Given the description of an element on the screen output the (x, y) to click on. 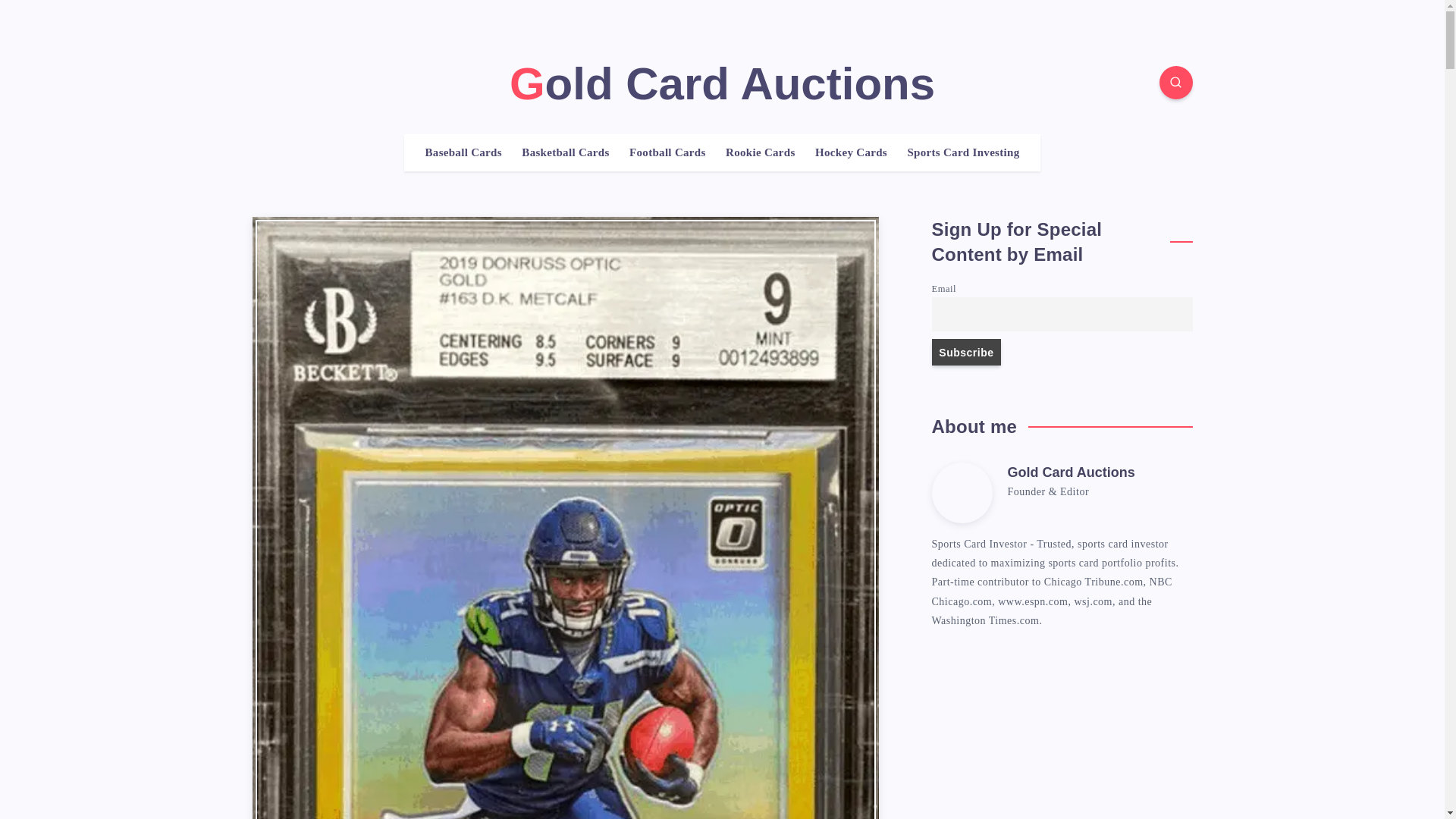
Baseball Cards (463, 152)
Gold Card Auctions (721, 83)
Rookie Cards (759, 152)
Sports Card Investing (963, 152)
Hockey Cards (850, 152)
Football Cards (666, 152)
Subscribe (966, 352)
Basketball Cards (564, 152)
